Given the description of an element on the screen output the (x, y) to click on. 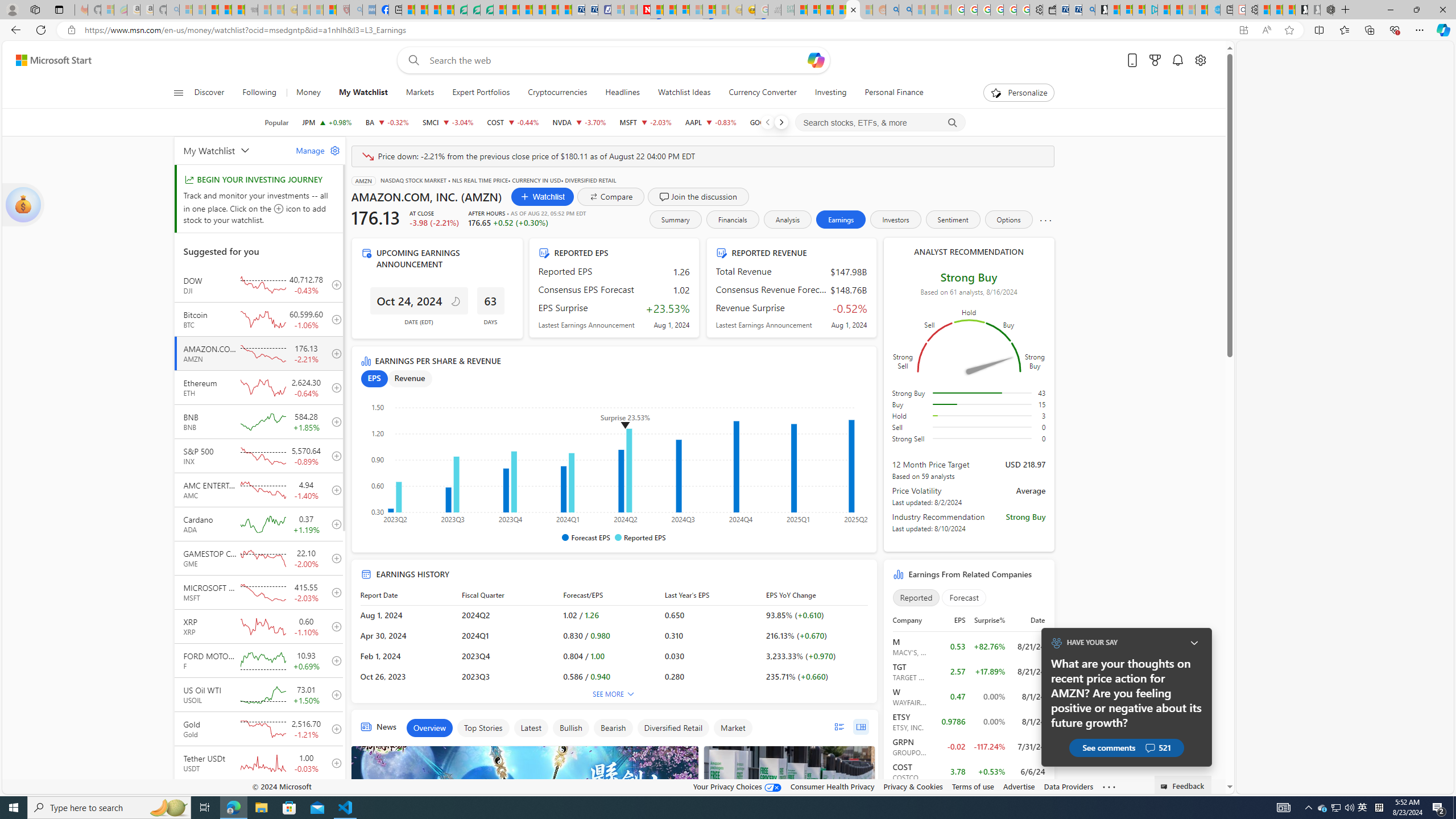
Class: feedback_link_icon-DS-EntryPoint1-1 (1165, 786)
